Given the description of an element on the screen output the (x, y) to click on. 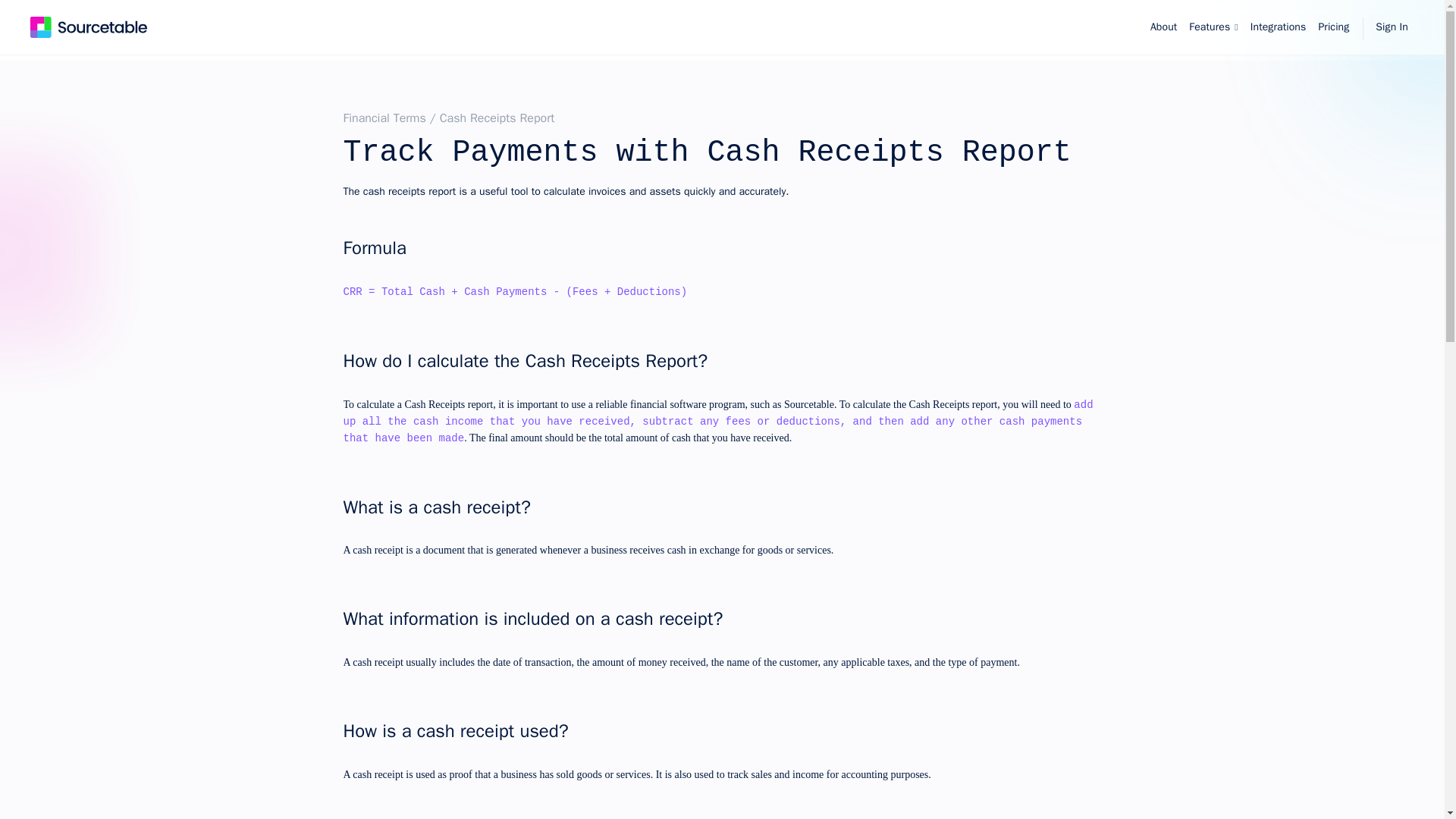
Features (1212, 27)
Financial Terms (383, 118)
Pricing (1333, 27)
Financial Terms (383, 118)
Sourcetable (88, 26)
Integrations (1278, 27)
Sign In (1391, 27)
About (1163, 27)
